Given the description of an element on the screen output the (x, y) to click on. 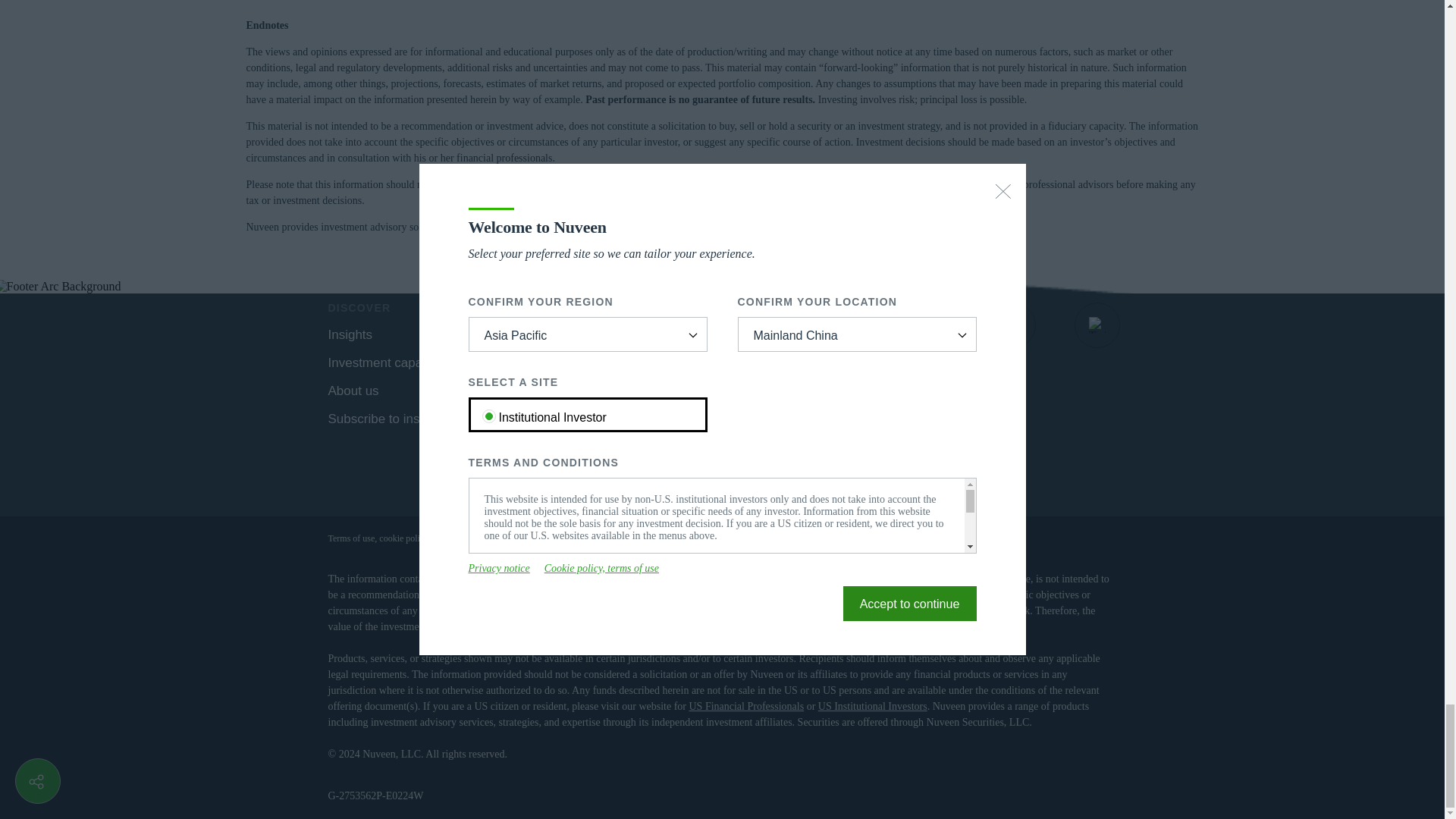
opens in a new window (508, 390)
opens in a new window (1097, 325)
opens in a new window (1013, 325)
opens in a new window (928, 325)
opens in a new window (845, 325)
